Given the description of an element on the screen output the (x, y) to click on. 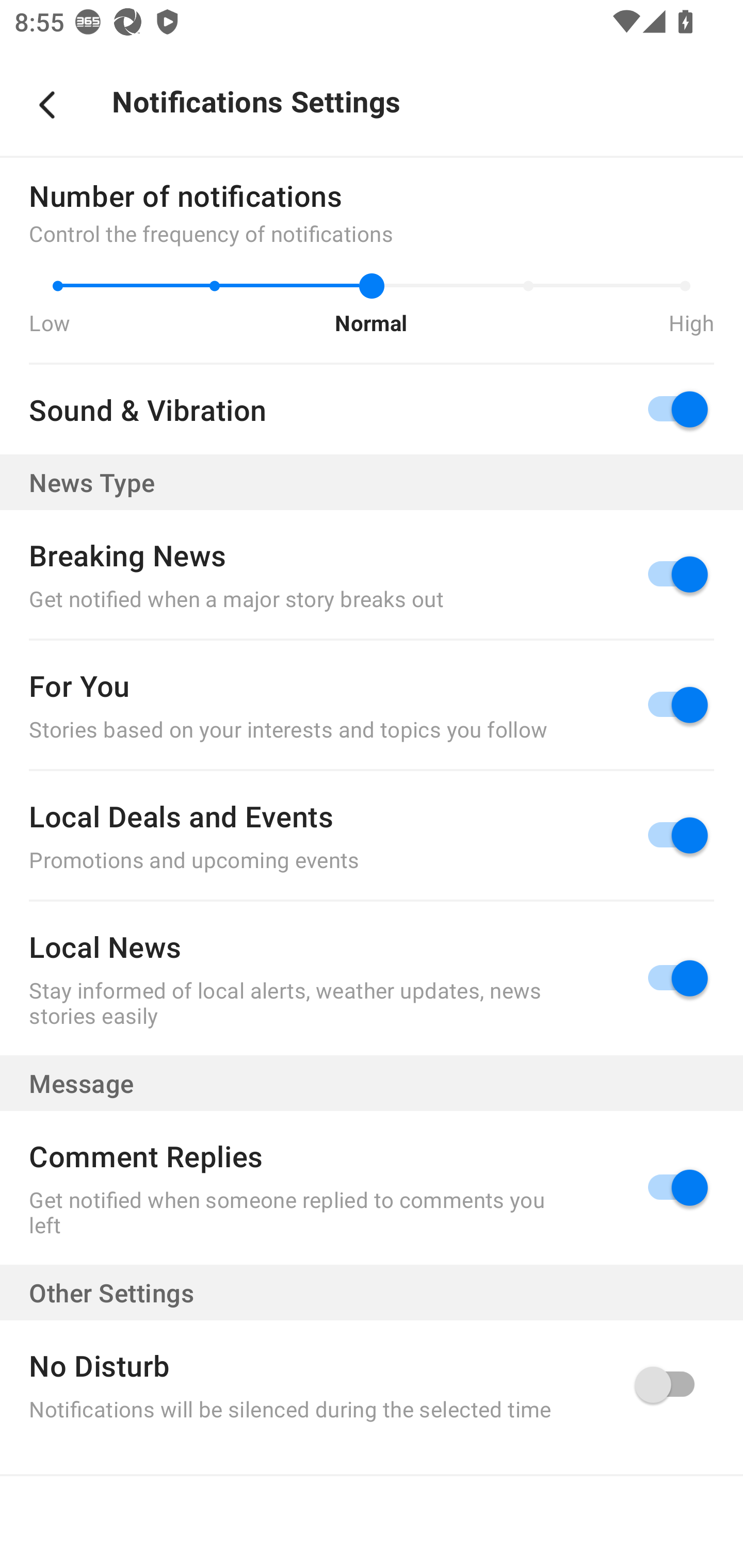
Back (46, 104)
Sound & Vibration (371, 409)
